Given the description of an element on the screen output the (x, y) to click on. 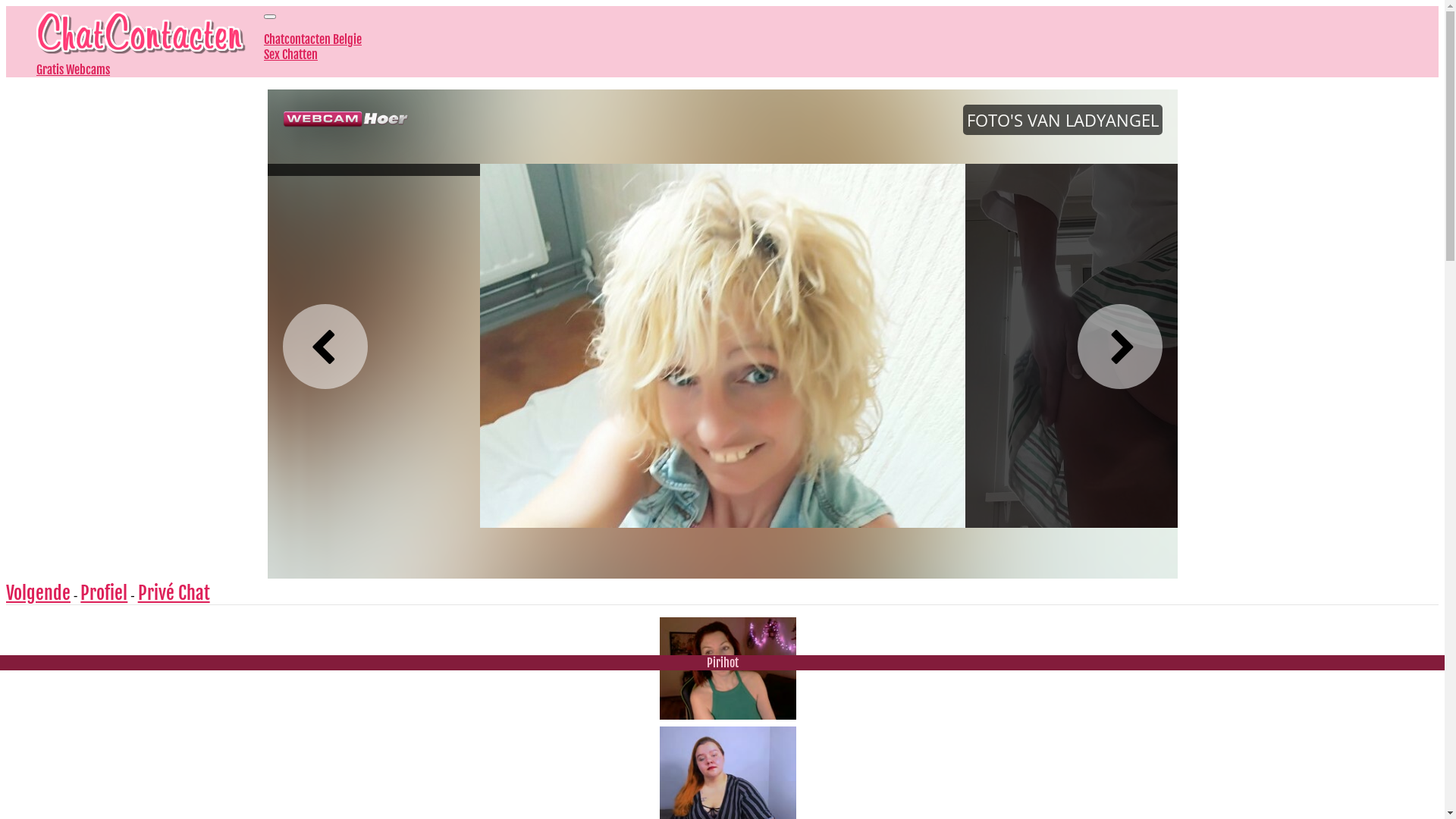
Profiel Element type: text (103, 592)
Sex Chatten Element type: text (290, 54)
Chatcontacten Belgie Element type: text (312, 39)
Gratis Webcams Element type: text (72, 69)
Volgende Element type: text (38, 592)
